Given the description of an element on the screen output the (x, y) to click on. 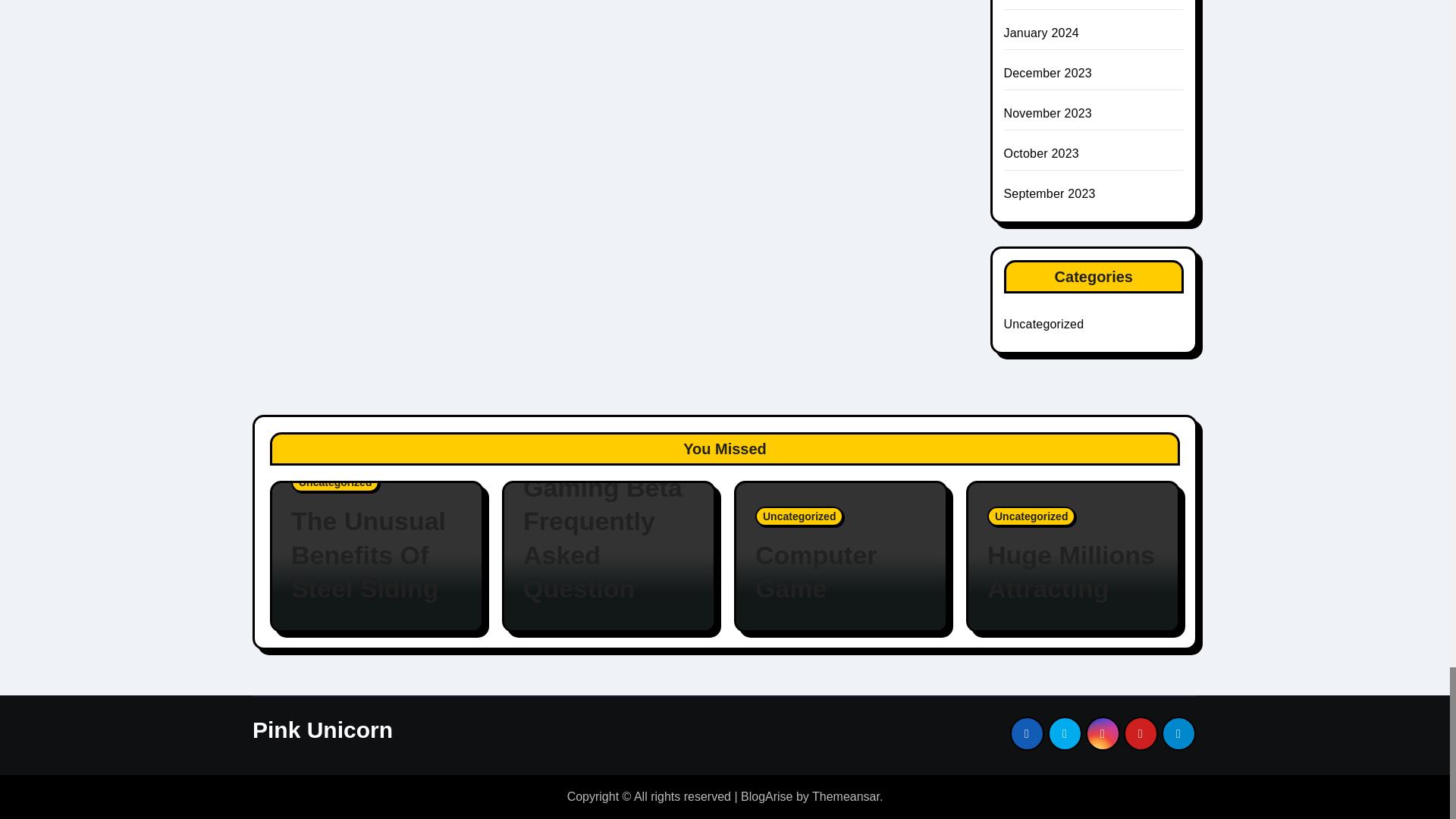
Permalink to: The Unusual Benefits Of Steel Siding (377, 554)
Permalink to: Huge Millions Attracting (1072, 571)
Permalink to: Computer Game (840, 571)
